Given the description of an element on the screen output the (x, y) to click on. 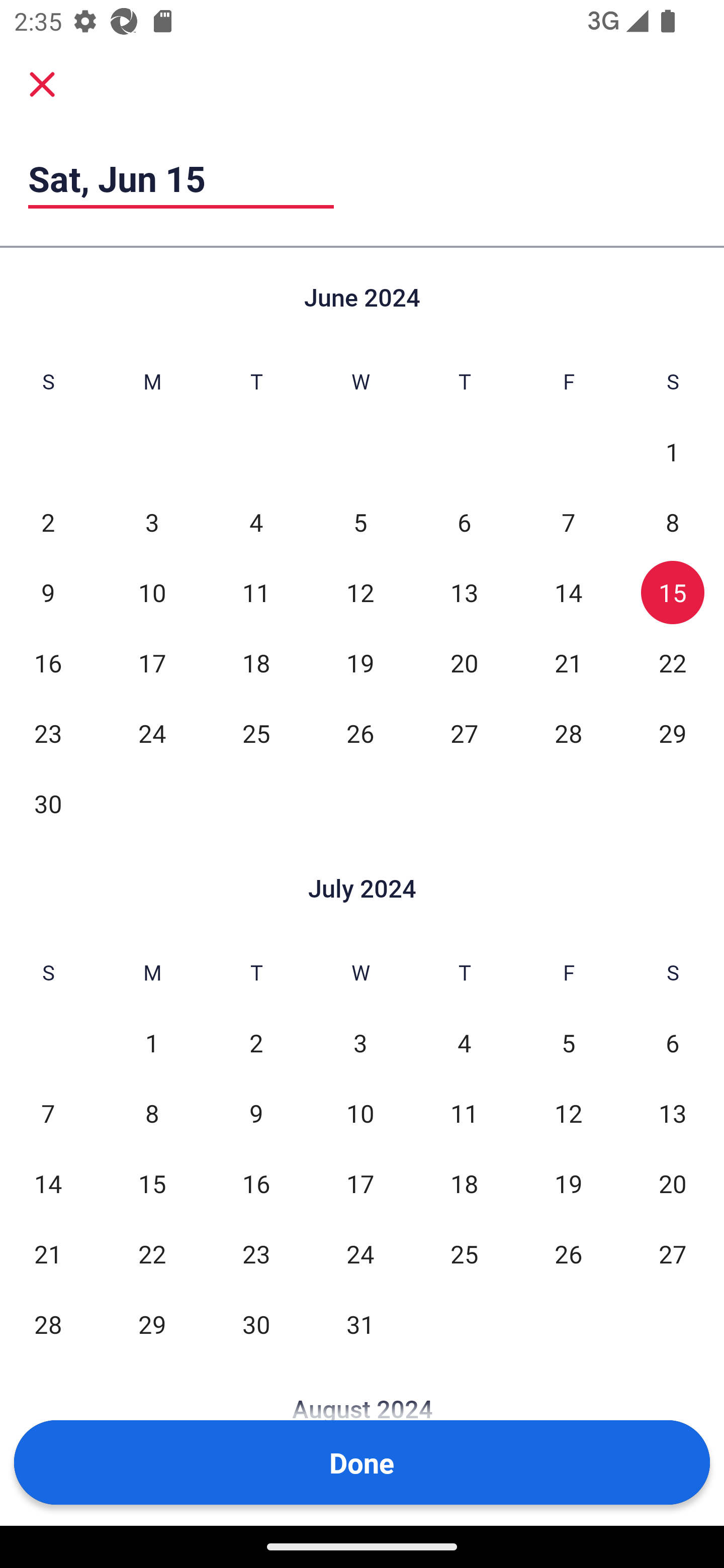
Cancel (41, 83)
Sat, Jun 15 (180, 178)
1 Sat, Jun 1, Not Selected (672, 452)
2 Sun, Jun 2, Not Selected (48, 521)
3 Mon, Jun 3, Not Selected (152, 521)
4 Tue, Jun 4, Not Selected (256, 521)
5 Wed, Jun 5, Not Selected (360, 521)
6 Thu, Jun 6, Not Selected (464, 521)
7 Fri, Jun 7, Not Selected (568, 521)
8 Sat, Jun 8, Not Selected (672, 521)
9 Sun, Jun 9, Not Selected (48, 591)
10 Mon, Jun 10, Not Selected (152, 591)
11 Tue, Jun 11, Not Selected (256, 591)
12 Wed, Jun 12, Not Selected (360, 591)
13 Thu, Jun 13, Not Selected (464, 591)
14 Fri, Jun 14, Not Selected (568, 591)
15 Sat, Jun 15, Selected (672, 591)
16 Sun, Jun 16, Not Selected (48, 662)
17 Mon, Jun 17, Not Selected (152, 662)
18 Tue, Jun 18, Not Selected (256, 662)
19 Wed, Jun 19, Not Selected (360, 662)
20 Thu, Jun 20, Not Selected (464, 662)
21 Fri, Jun 21, Not Selected (568, 662)
22 Sat, Jun 22, Not Selected (672, 662)
23 Sun, Jun 23, Not Selected (48, 732)
24 Mon, Jun 24, Not Selected (152, 732)
25 Tue, Jun 25, Not Selected (256, 732)
26 Wed, Jun 26, Not Selected (360, 732)
27 Thu, Jun 27, Not Selected (464, 732)
28 Fri, Jun 28, Not Selected (568, 732)
29 Sat, Jun 29, Not Selected (672, 732)
30 Sun, Jun 30, Not Selected (48, 803)
1 Mon, Jul 1, Not Selected (152, 1043)
2 Tue, Jul 2, Not Selected (256, 1043)
3 Wed, Jul 3, Not Selected (360, 1043)
4 Thu, Jul 4, Not Selected (464, 1043)
5 Fri, Jul 5, Not Selected (568, 1043)
6 Sat, Jul 6, Not Selected (672, 1043)
7 Sun, Jul 7, Not Selected (48, 1112)
8 Mon, Jul 8, Not Selected (152, 1112)
9 Tue, Jul 9, Not Selected (256, 1112)
10 Wed, Jul 10, Not Selected (360, 1112)
11 Thu, Jul 11, Not Selected (464, 1112)
12 Fri, Jul 12, Not Selected (568, 1112)
13 Sat, Jul 13, Not Selected (672, 1112)
14 Sun, Jul 14, Not Selected (48, 1182)
15 Mon, Jul 15, Not Selected (152, 1182)
16 Tue, Jul 16, Not Selected (256, 1182)
17 Wed, Jul 17, Not Selected (360, 1182)
18 Thu, Jul 18, Not Selected (464, 1182)
19 Fri, Jul 19, Not Selected (568, 1182)
20 Sat, Jul 20, Not Selected (672, 1182)
21 Sun, Jul 21, Not Selected (48, 1253)
22 Mon, Jul 22, Not Selected (152, 1253)
23 Tue, Jul 23, Not Selected (256, 1253)
24 Wed, Jul 24, Not Selected (360, 1253)
25 Thu, Jul 25, Not Selected (464, 1253)
26 Fri, Jul 26, Not Selected (568, 1253)
27 Sat, Jul 27, Not Selected (672, 1253)
28 Sun, Jul 28, Not Selected (48, 1323)
29 Mon, Jul 29, Not Selected (152, 1323)
30 Tue, Jul 30, Not Selected (256, 1323)
31 Wed, Jul 31, Not Selected (360, 1323)
Done Button Done (361, 1462)
